Given the description of an element on the screen output the (x, y) to click on. 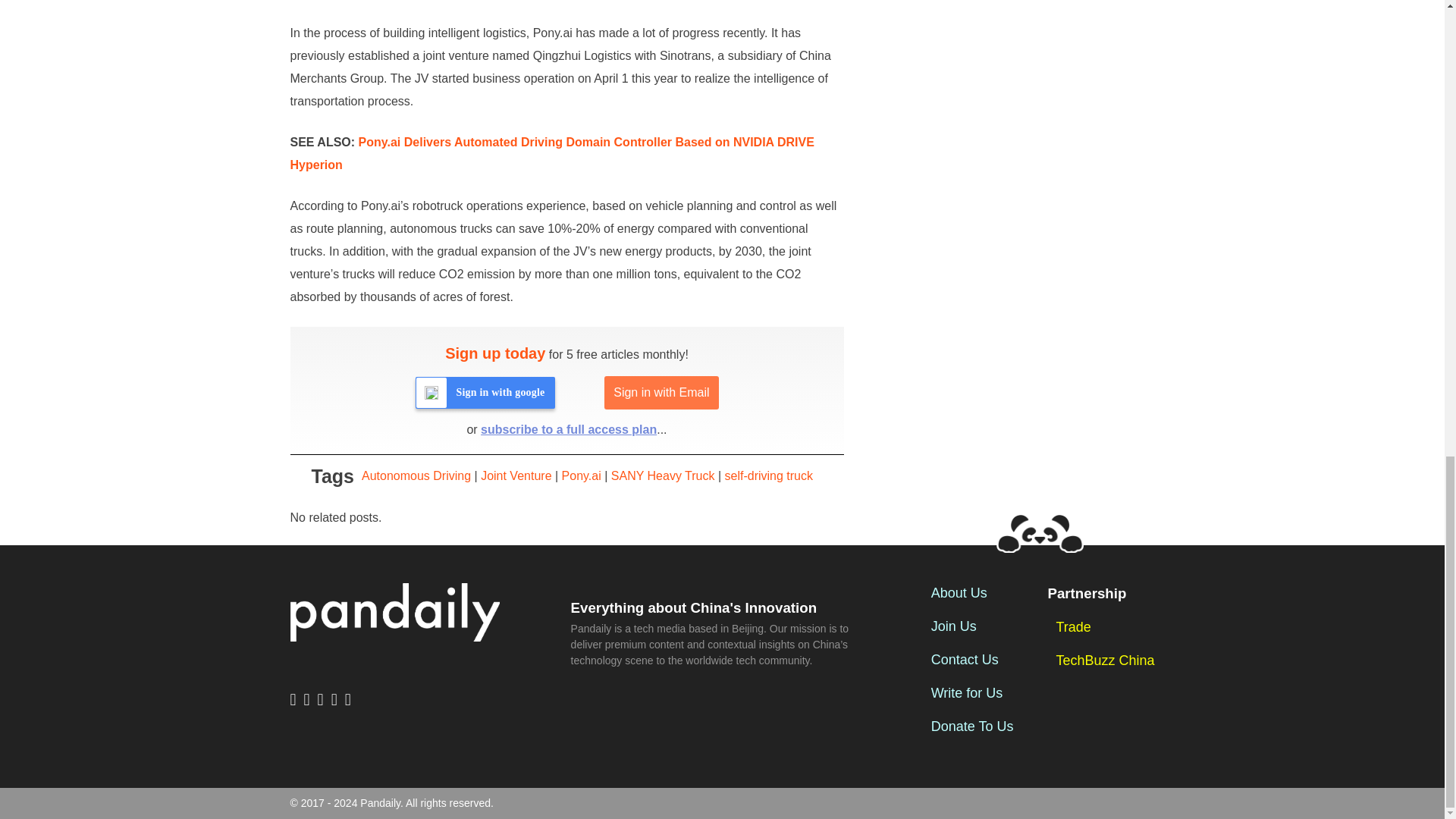
subscribe to a full access plan (568, 429)
Sign in with Email (660, 392)
